Given the description of an element on the screen output the (x, y) to click on. 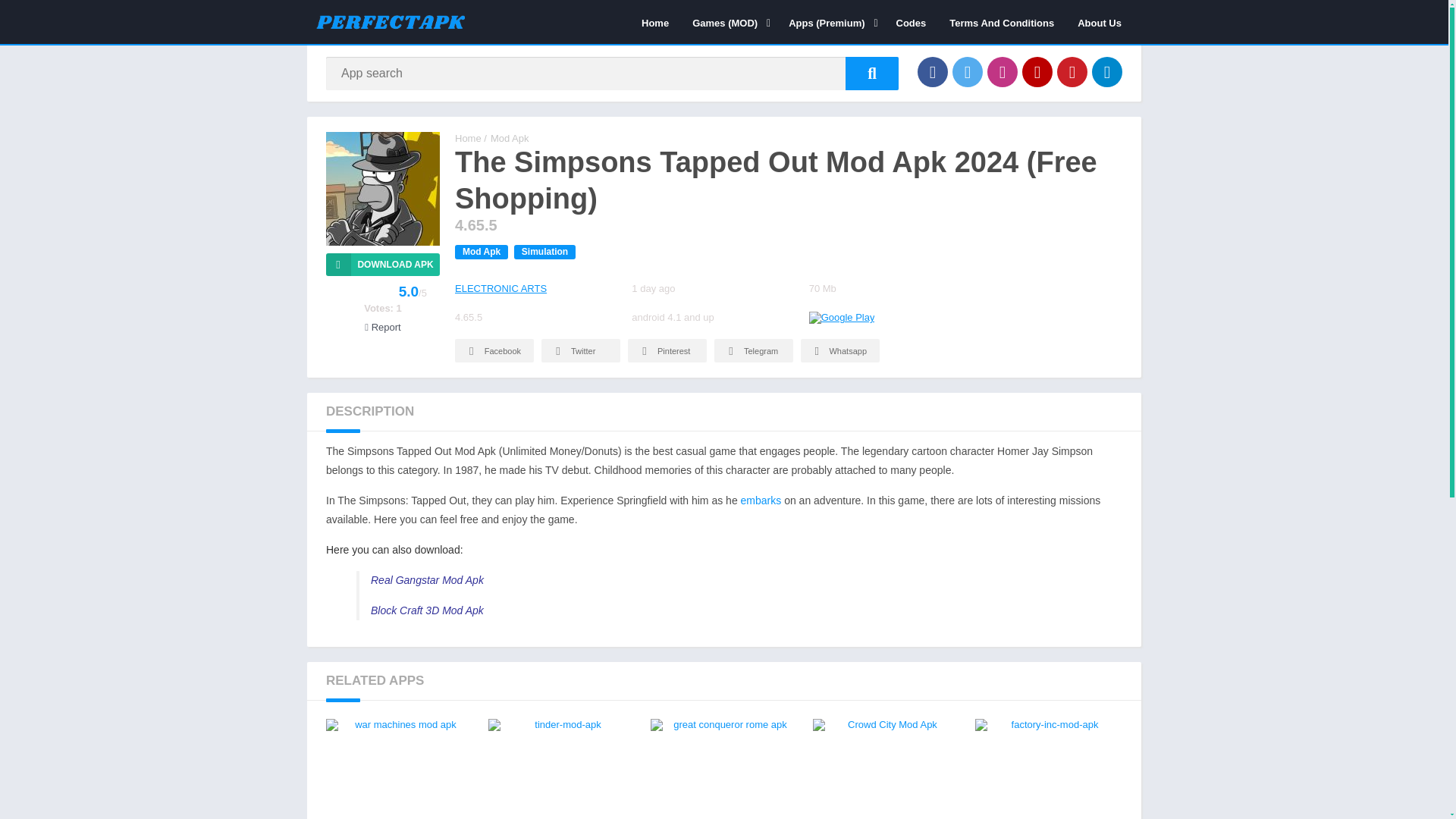
Twitter (967, 71)
Pinterest (1072, 71)
Download APK (382, 264)
Perfect Apk (467, 138)
App search (871, 73)
Facebook (932, 71)
Telegram (1107, 71)
Instagram (1002, 71)
YouTube (1037, 71)
